Given the description of an element on the screen output the (x, y) to click on. 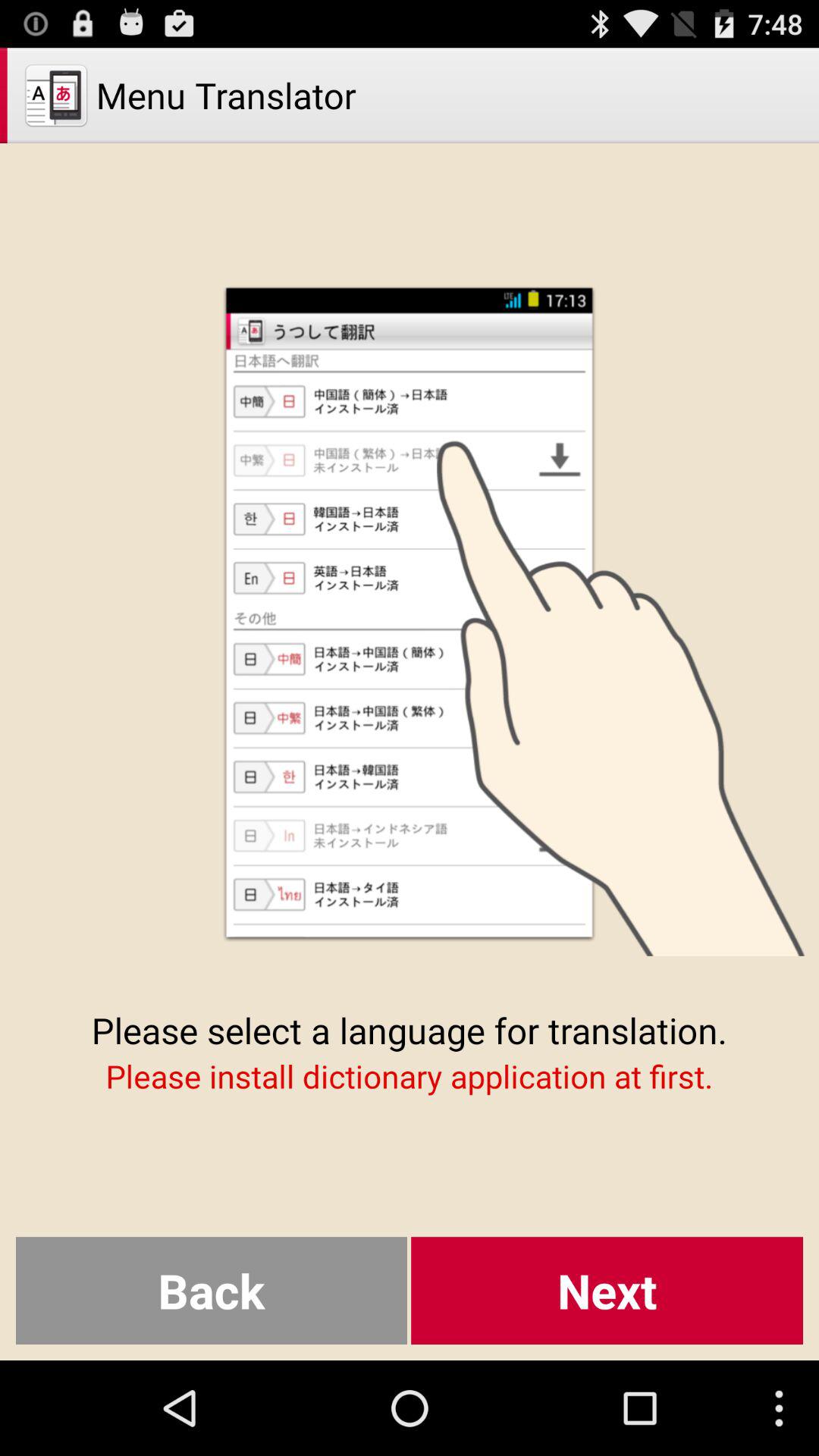
turn on next item (607, 1290)
